Given the description of an element on the screen output the (x, y) to click on. 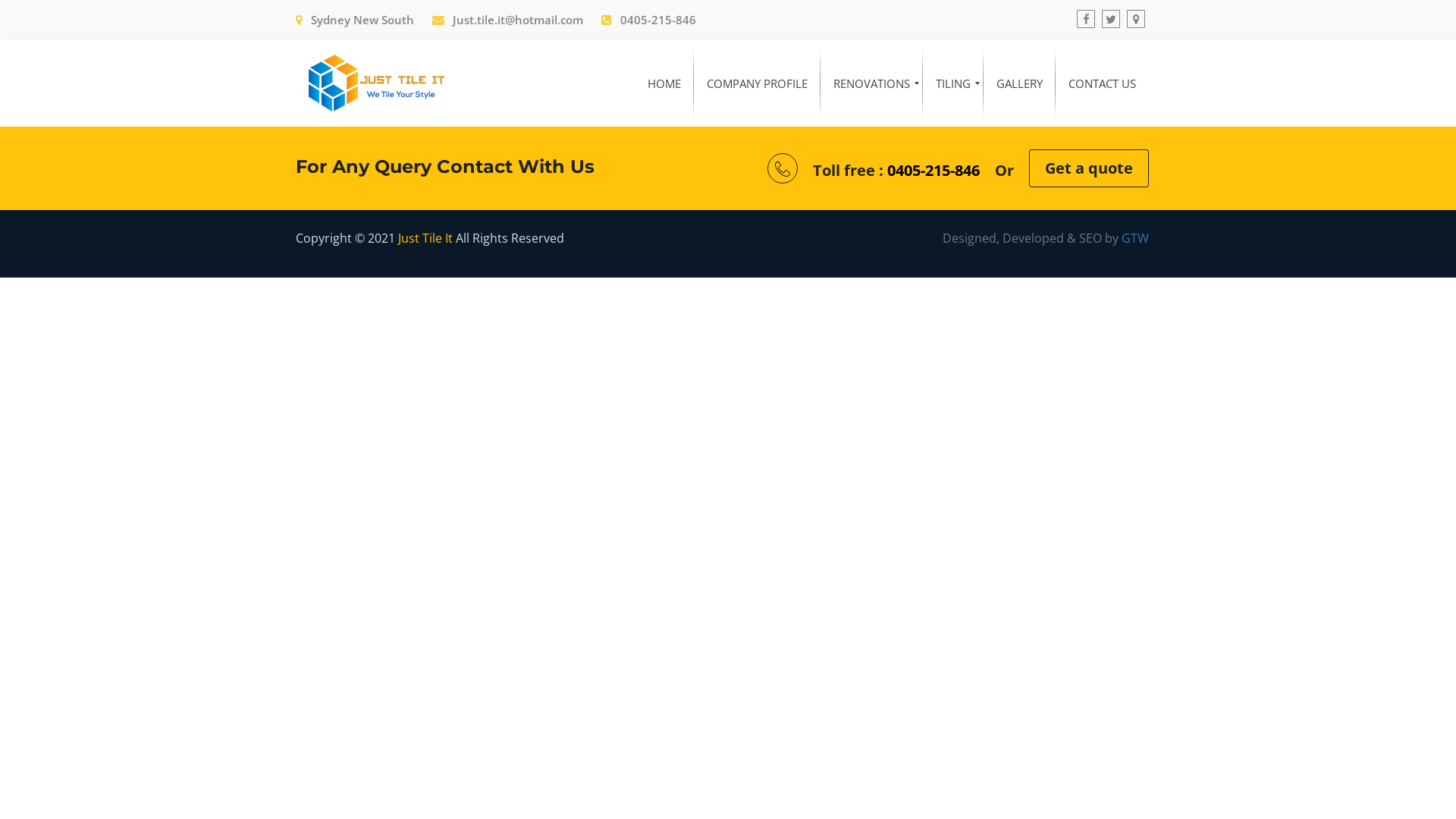
Just.tile.it@hotmail.com Element type: text (507, 19)
0405-215-846 Element type: text (933, 170)
COMPANY PROFILE Element type: text (756, 82)
GTW Element type: text (1134, 237)
HOME Element type: text (663, 82)
GALLERY Element type: text (1019, 82)
CONTACT US Element type: text (1101, 82)
0405-215-846 Element type: text (648, 19)
JUST TILE IT Element type: hover (376, 82)
Sydney New South Element type: text (354, 19)
Get a quote Element type: text (1088, 168)
RENOVATIONS Element type: text (871, 82)
TILING Element type: text (952, 82)
Just Tile It Element type: text (425, 237)
